Given the description of an element on the screen output the (x, y) to click on. 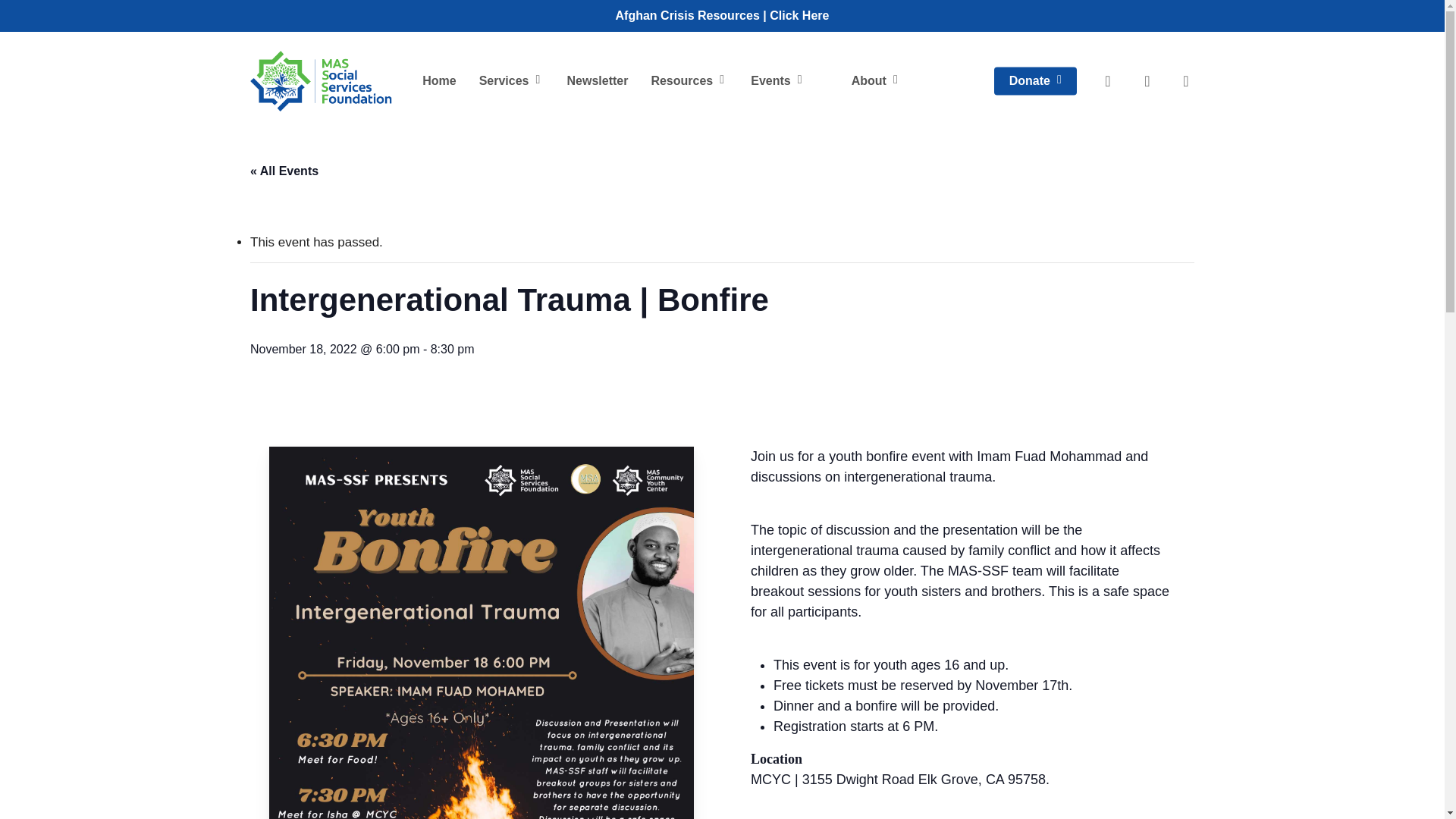
Newsletter (596, 80)
Home (438, 80)
About (876, 81)
Events (777, 81)
Resources (689, 81)
Services (511, 81)
